Given the description of an element on the screen output the (x, y) to click on. 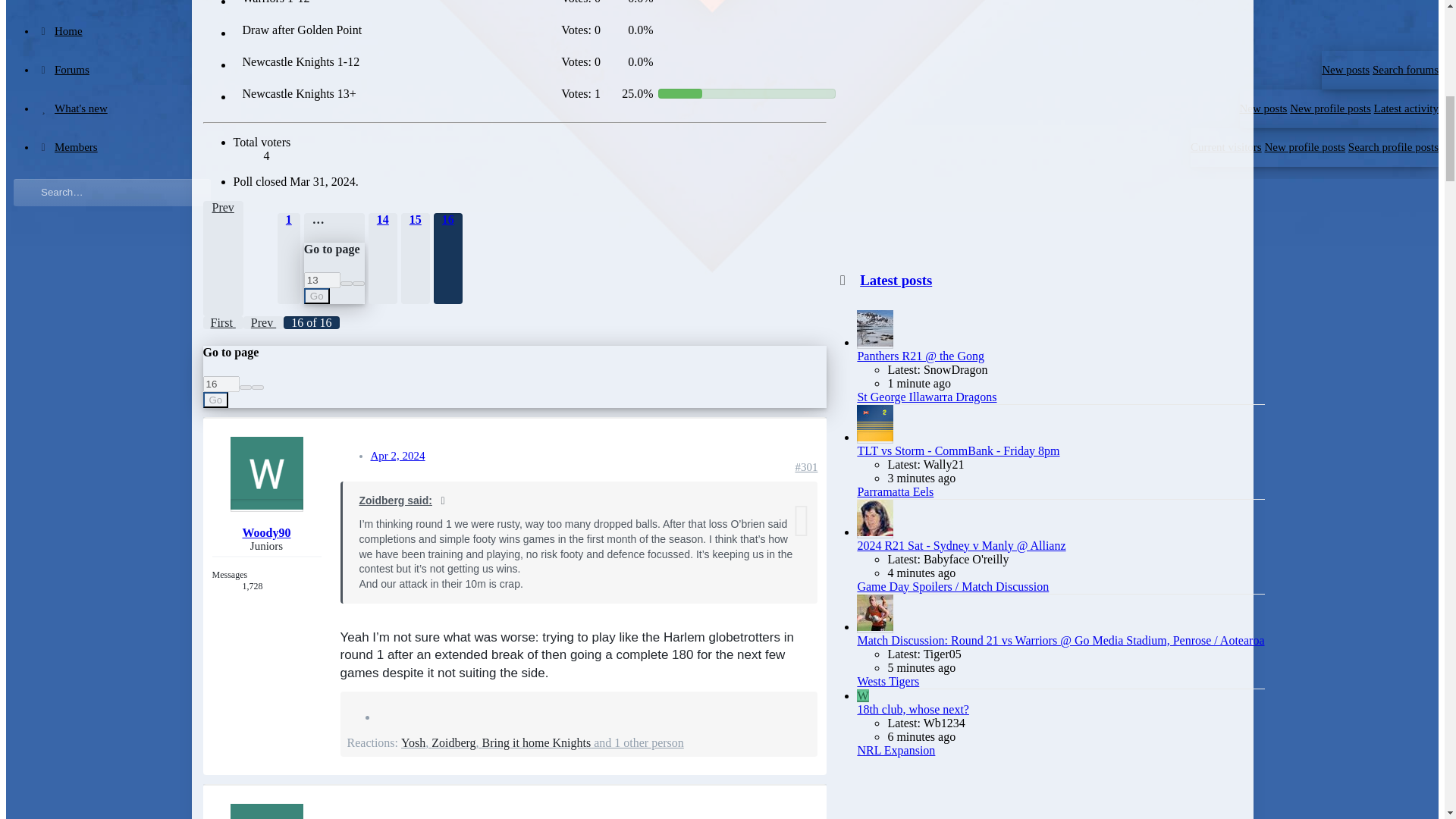
Apr 2, 2024 at 8:22 PM (397, 817)
Increase (245, 386)
Apr 2, 2024 at 8:20 PM (397, 455)
Decrease (257, 386)
16 (221, 383)
13 (322, 279)
Increase (346, 283)
Decrease (358, 283)
Mar 31, 2024 at 4:05 PM (322, 181)
